Given the description of an element on the screen output the (x, y) to click on. 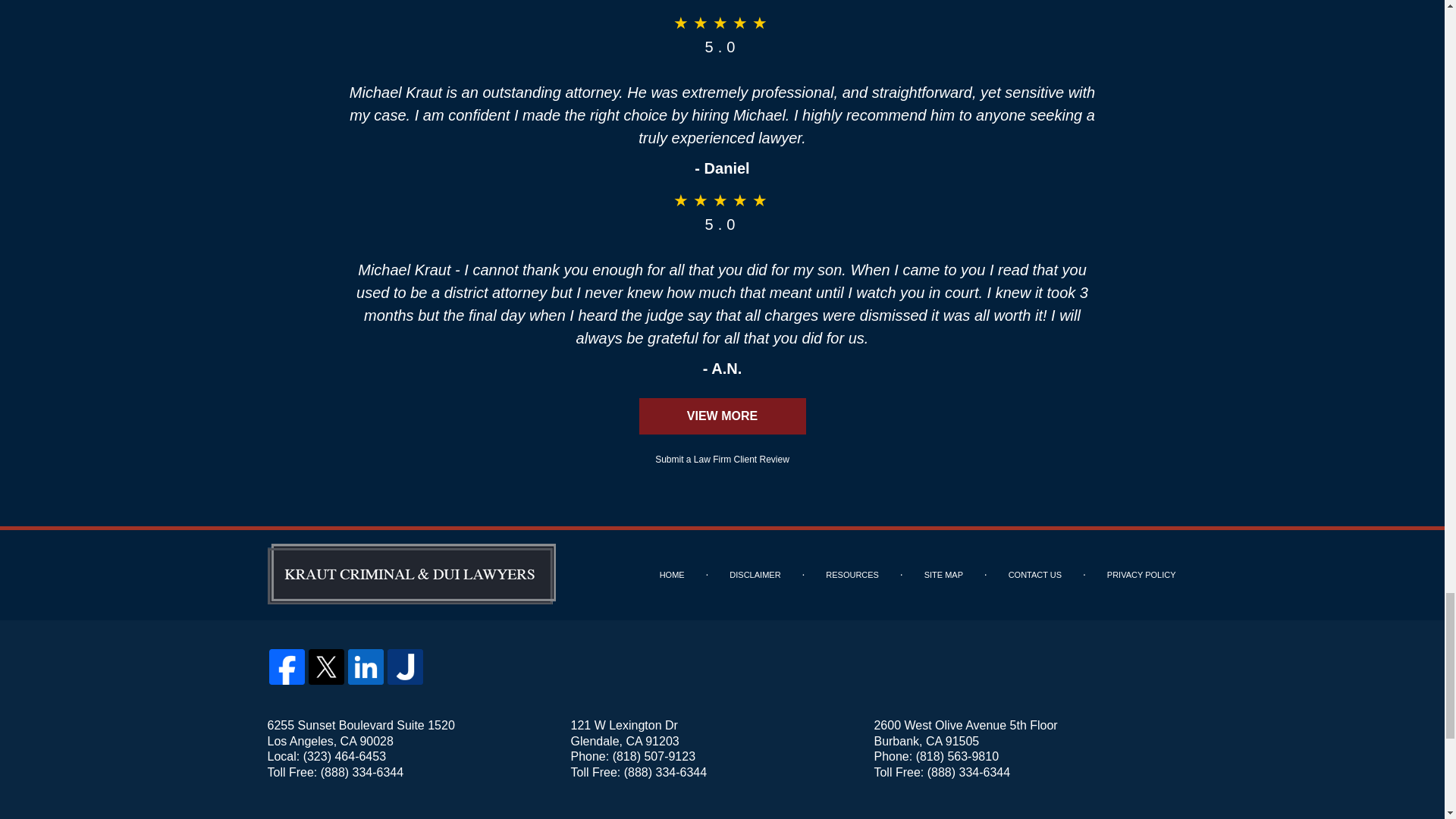
Twitter (325, 666)
LinkedIn (365, 666)
Justia (405, 666)
Facebook (285, 666)
